Given the description of an element on the screen output the (x, y) to click on. 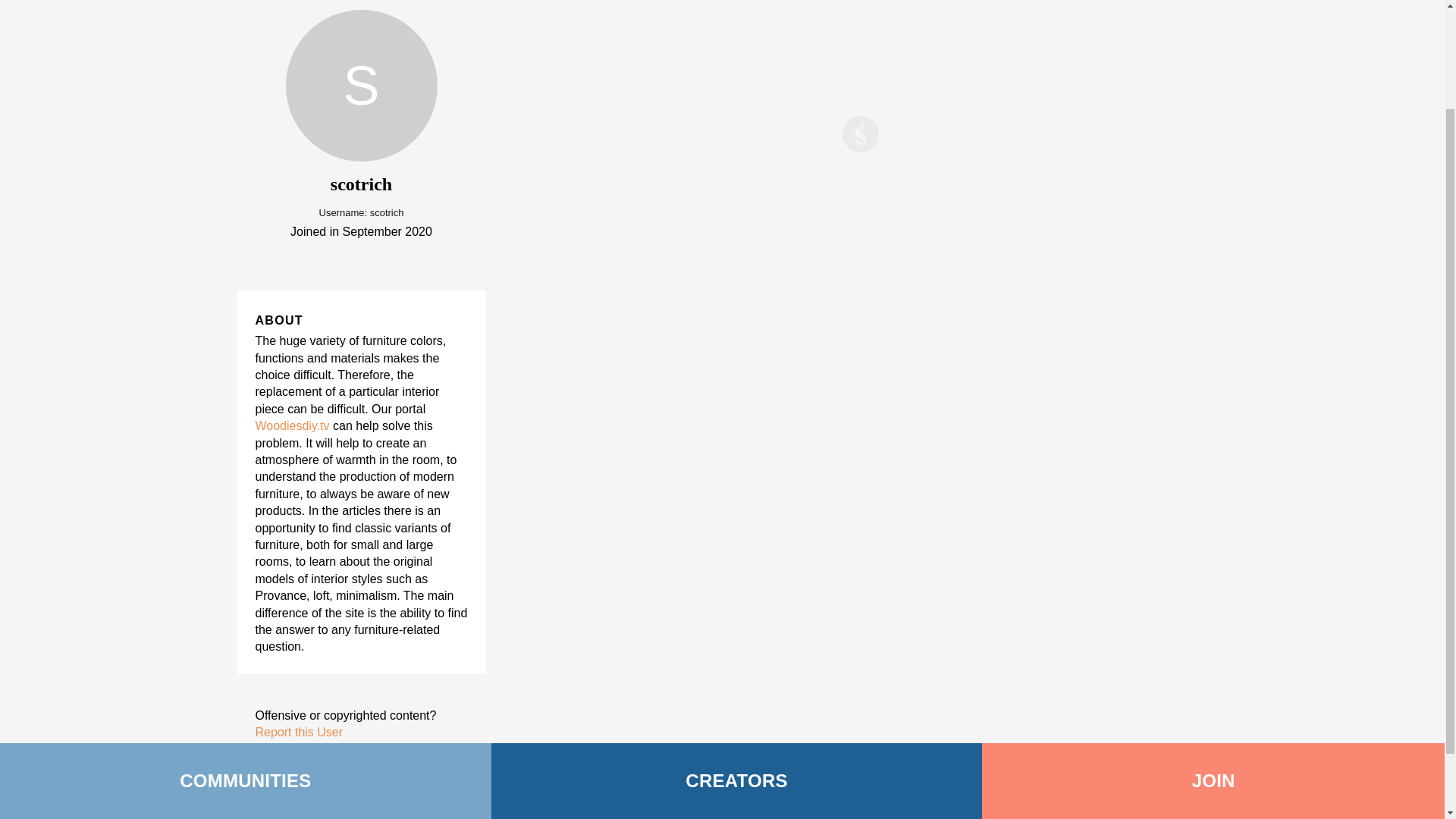
COMMUNITIES (246, 656)
Woodiesdiy.tv (291, 425)
Report this User (298, 731)
CREATORS (737, 656)
